Given the description of an element on the screen output the (x, y) to click on. 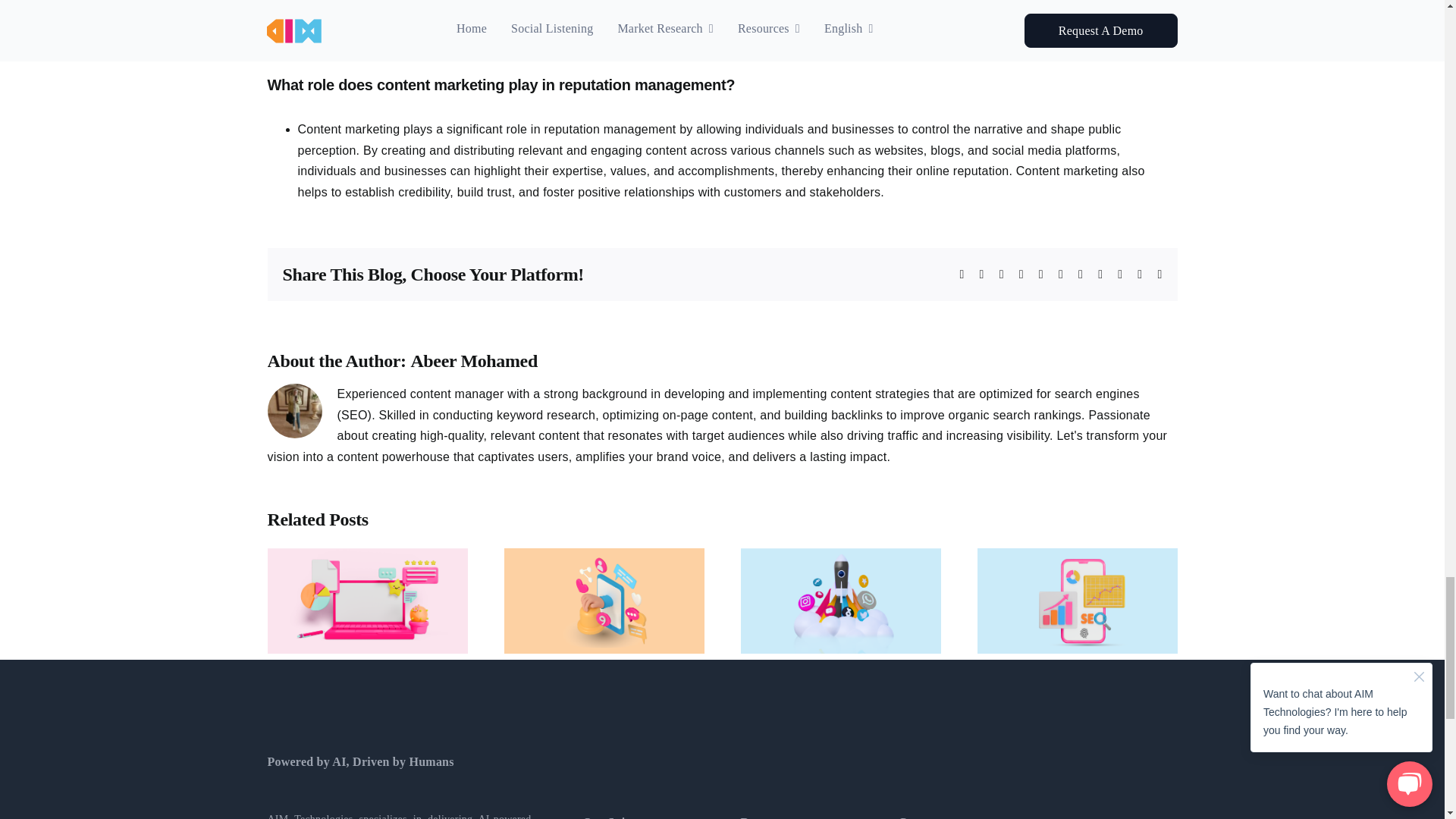
Posts by Abeer Mohamed (473, 361)
